Given the description of an element on the screen output the (x, y) to click on. 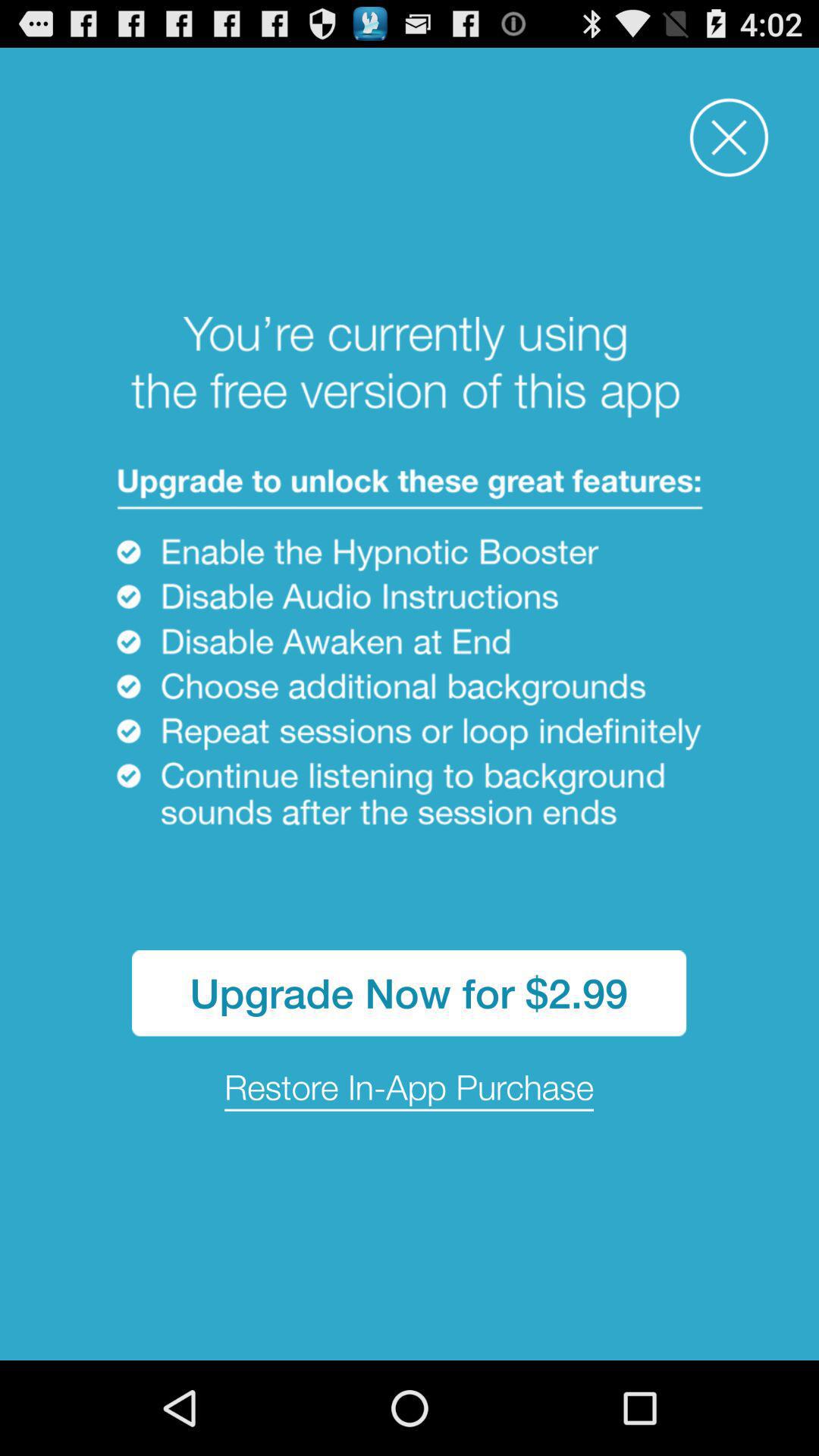
jump until the restore in app item (408, 1088)
